Given the description of an element on the screen output the (x, y) to click on. 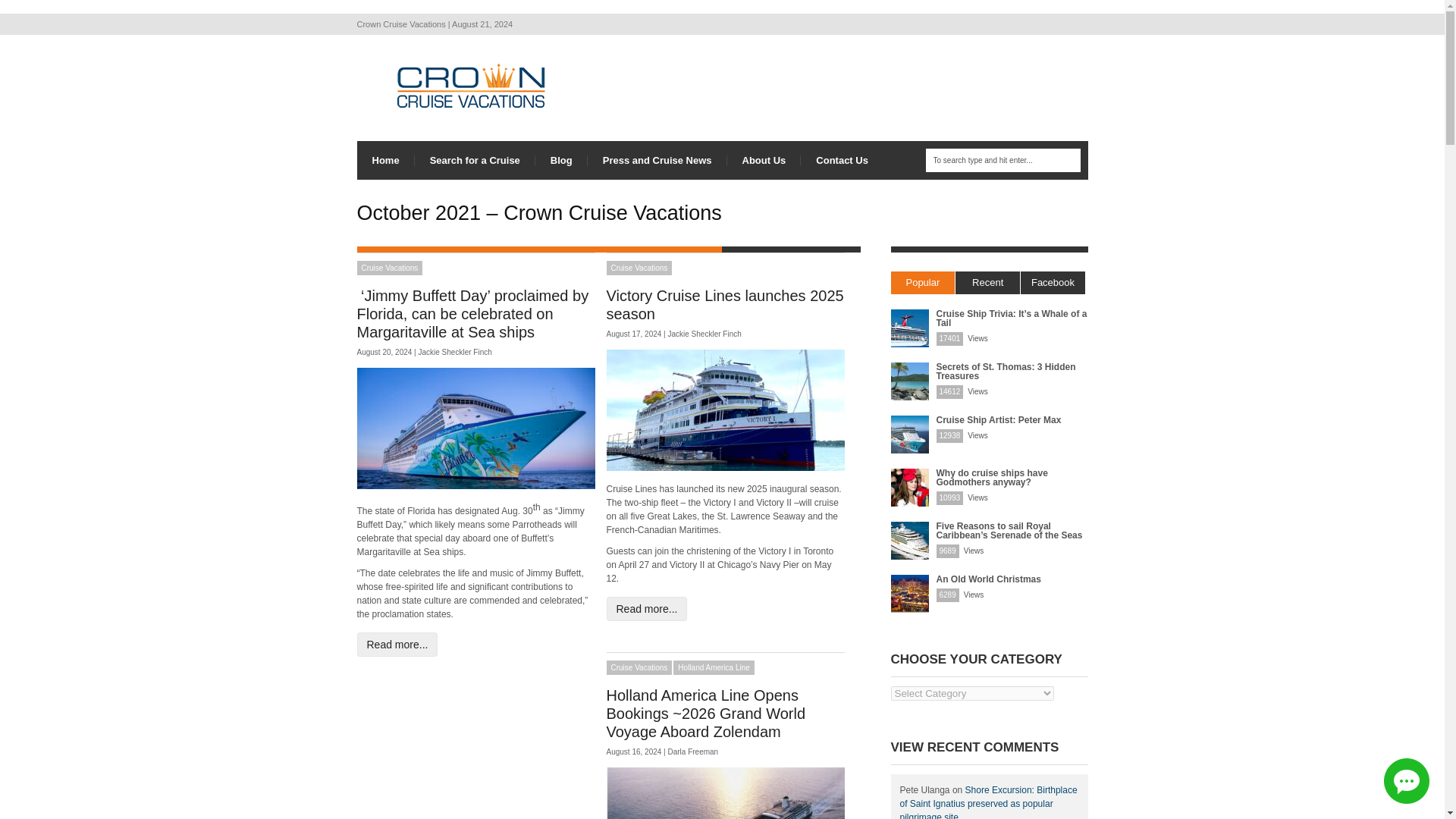
Live chat online (1406, 780)
Permanent Link to Victory Cruise Lines launches 2025 season (725, 304)
Blog (561, 159)
Press and Cruise News (657, 159)
Home (384, 159)
Jackie Sheckler Finch (455, 352)
Cruise Vacations (639, 667)
Holland America Line (713, 667)
Search for a Cruise (474, 159)
Read more... (397, 644)
